Given the description of an element on the screen output the (x, y) to click on. 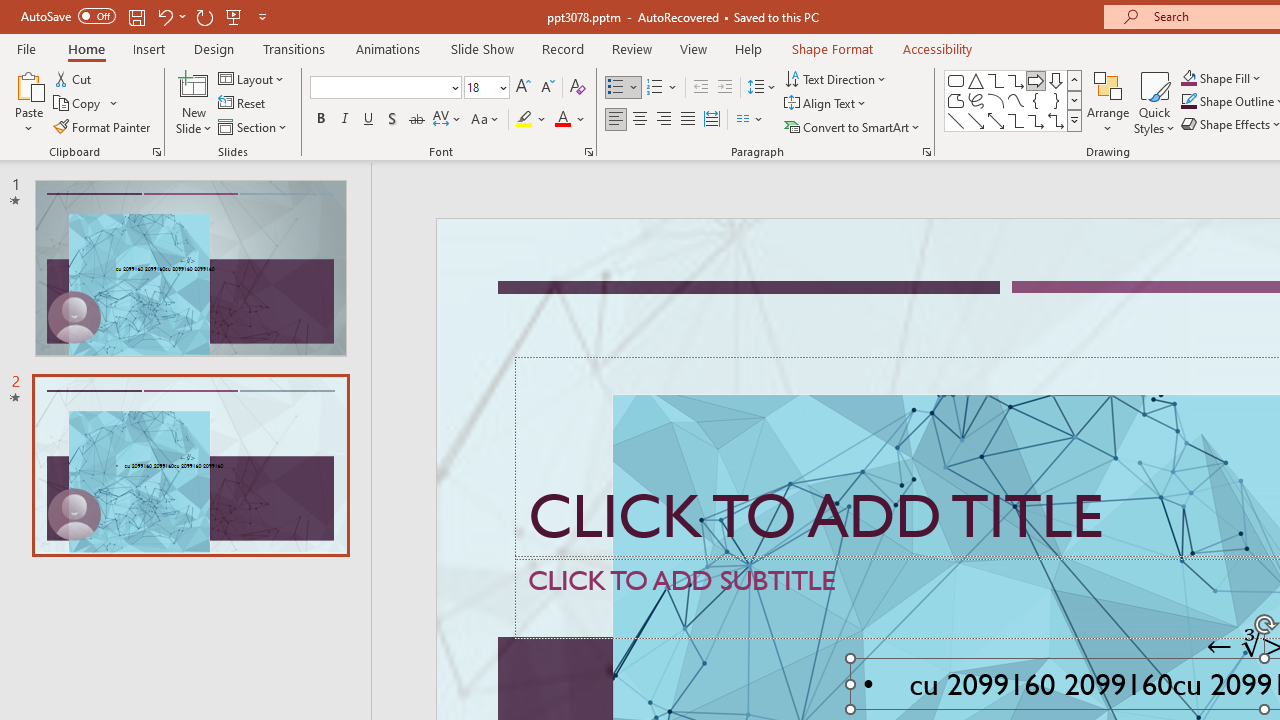
Line Arrow: Double (995, 120)
